Given the description of an element on the screen output the (x, y) to click on. 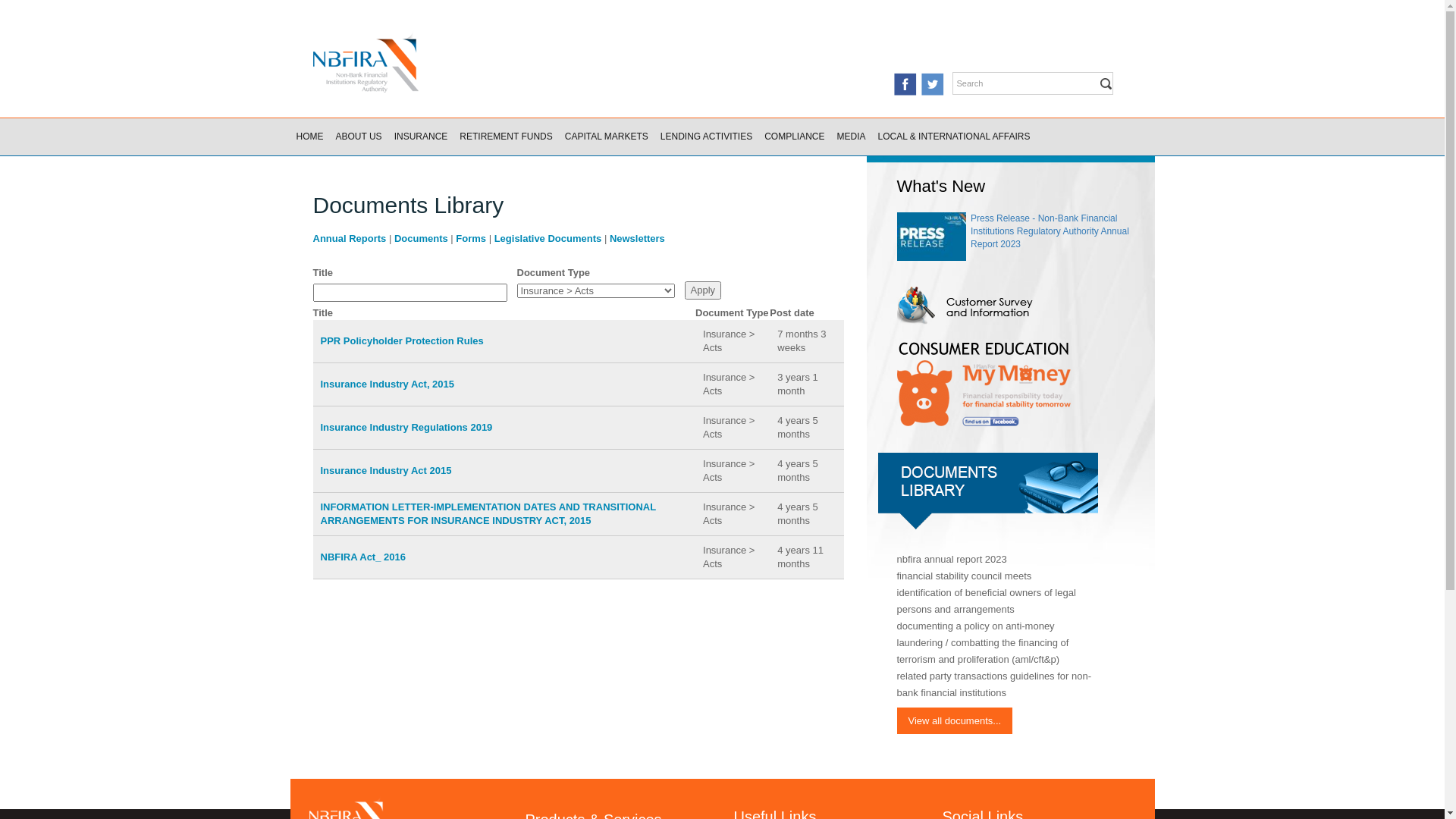
Annual Reports Element type: text (348, 238)
ABOUT US Element type: text (358, 136)
Apply Element type: text (702, 290)
HOME Element type: text (309, 136)
Insurance Industry Act 2015 Element type: text (385, 470)
Skip to main content Element type: text (48, 0)
Legislative Documents Element type: text (548, 238)
COMPLIANCE Element type: text (794, 136)
Home Element type: hover (434, 61)
CAPITAL MARKETS Element type: text (606, 136)
Insurance Industry Act, 2015 Element type: text (387, 383)
Insurance Industry Regulations 2019 Element type: text (406, 427)
LOCAL & INTERNATIONAL AFFAIRS Element type: text (954, 136)
NBFIRA Act_ 2016 Element type: text (362, 556)
Newsletters Element type: text (637, 238)
View all documents... Element type: text (954, 720)
Enter the terms you wish to search for. Element type: hover (1027, 83)
MEDIA Element type: text (851, 136)
PPR Policyholder Protection Rules Element type: text (401, 340)
nbfira annual report 2023 Element type: text (951, 558)
LENDING ACTIVITIES Element type: text (706, 136)
financial stability council meets Element type: text (963, 575)
INSURANCE Element type: text (421, 136)
Forms Element type: text (470, 238)
Documents Element type: text (421, 238)
RETIREMENT FUNDS Element type: text (505, 136)
